Given the description of an element on the screen output the (x, y) to click on. 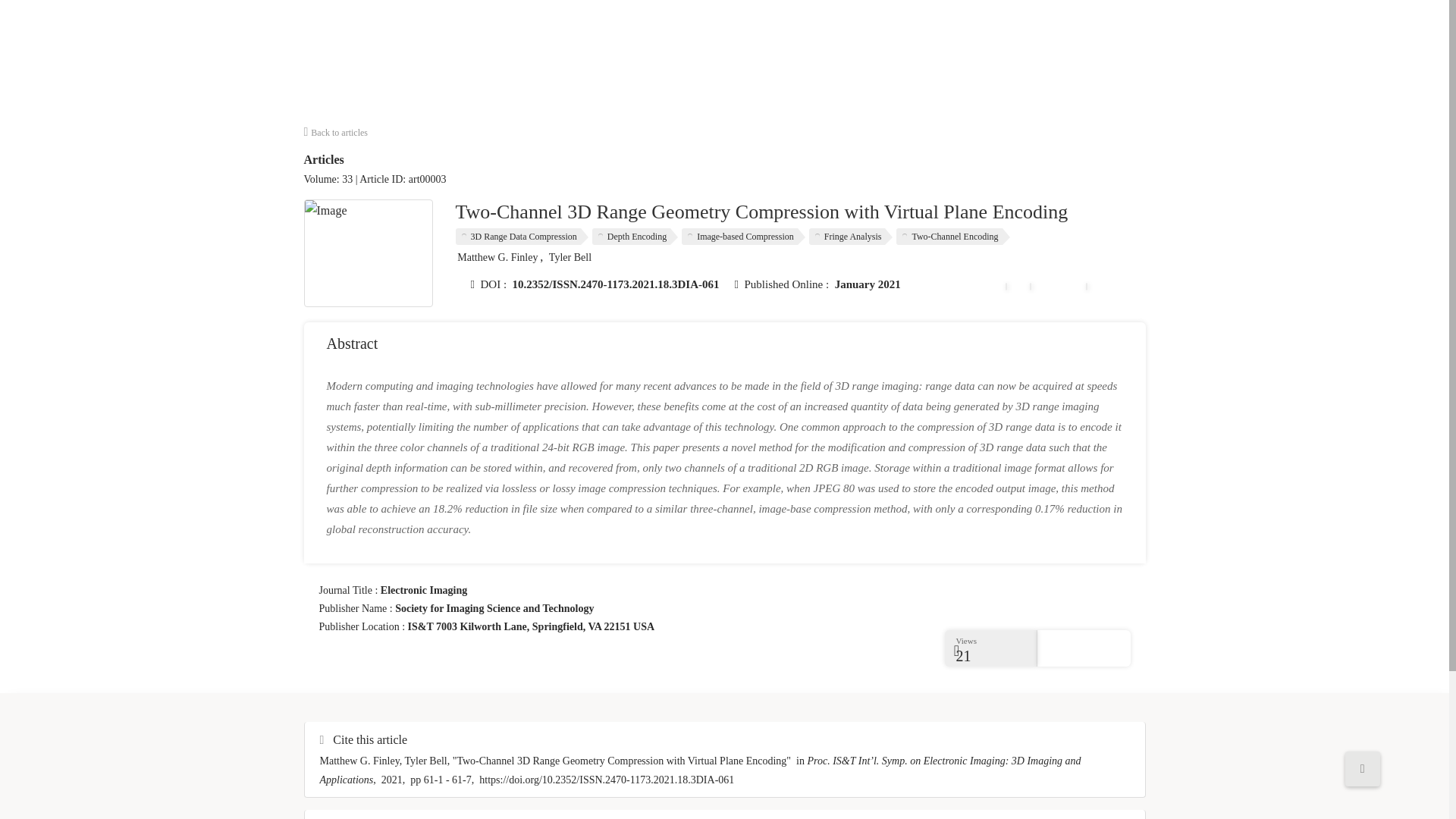
No article cover image (368, 252)
Two-Channel Encoding (952, 236)
Image-based Compression (743, 236)
3D Range Data Compression (521, 236)
Depth Encoding (635, 236)
Fringe Analysis (851, 236)
